Given the description of an element on the screen output the (x, y) to click on. 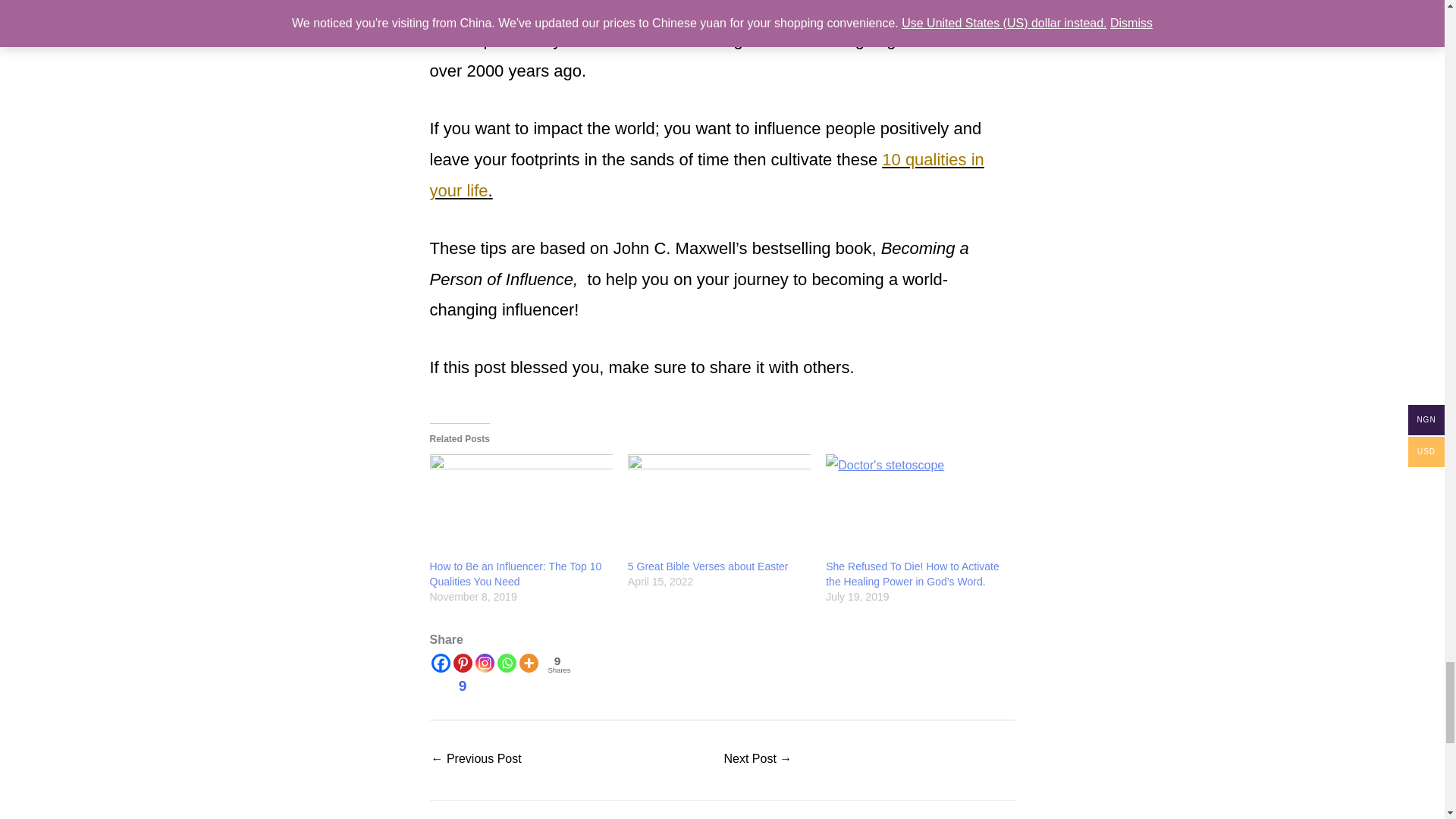
5 Great Bible Verses about Easter (708, 566)
Facebook (439, 662)
10 qualities in your life. (706, 174)
Instagram (483, 662)
5 Great Bible Verses about Easter (708, 566)
5 Great Bible Verses about Easter (718, 506)
More (527, 662)
How to Be an Influencer: The Top 10 Qualities You Need (520, 506)
How to Be an Influencer: The Top 10 Qualities You Need (515, 574)
How to Be an Influencer: The Top 10 Qualities You Need (475, 759)
Whatsapp (506, 662)
Total Shares (556, 664)
How to Be an Influencer: The Top 10 Qualities You Need (515, 574)
